Given the description of an element on the screen output the (x, y) to click on. 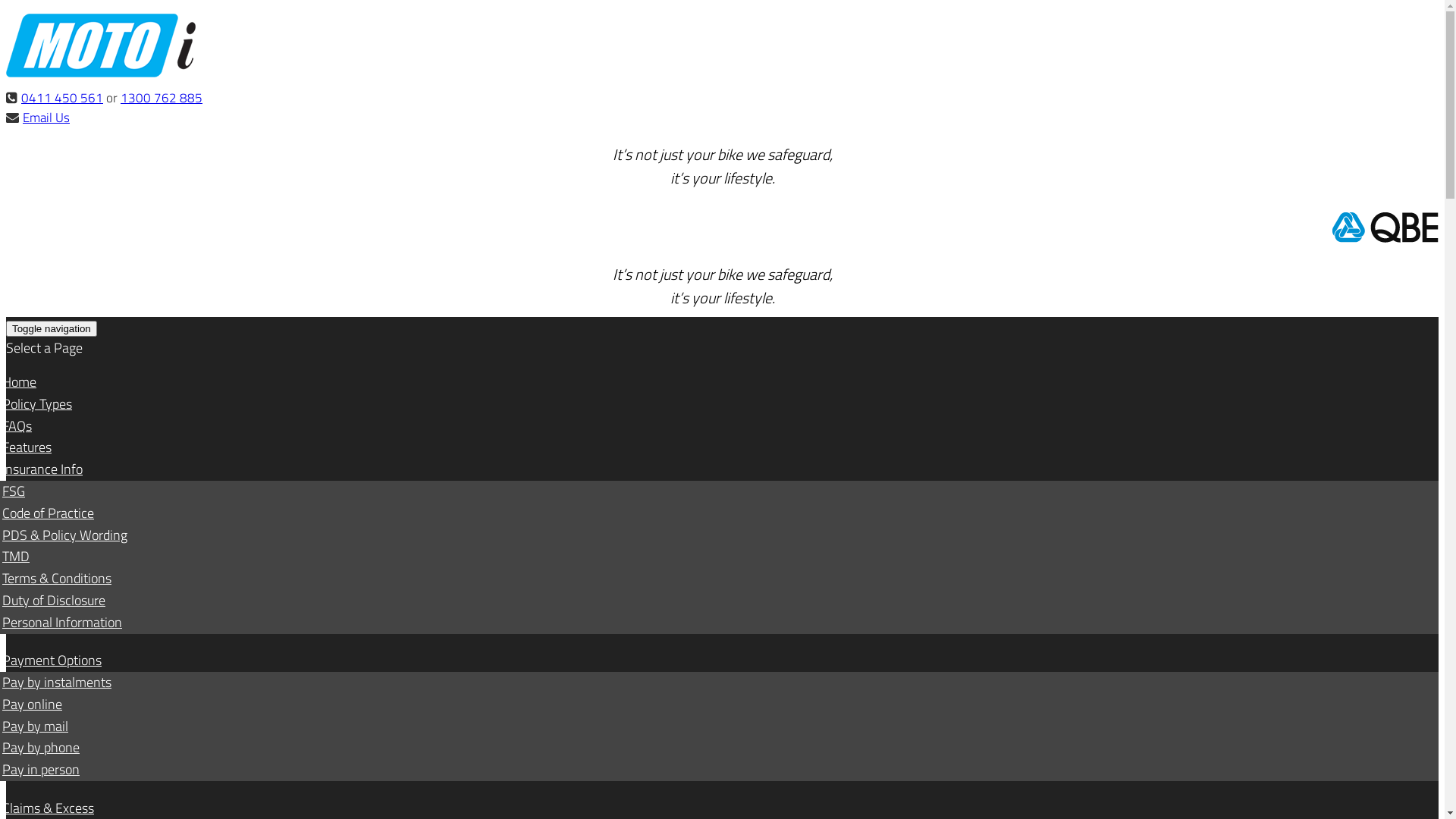
Skip to main content Element type: text (6, 6)
Toggle navigation Element type: text (51, 328)
www.motorcycle-insurance.com.au Element type: hover (100, 72)
1300 762 885 Element type: text (161, 97)
Email Us Element type: text (45, 117)
0411 450 561 Element type: text (62, 97)
www.motorcycle-insurance.com.au Element type: hover (100, 45)
